Given the description of an element on the screen output the (x, y) to click on. 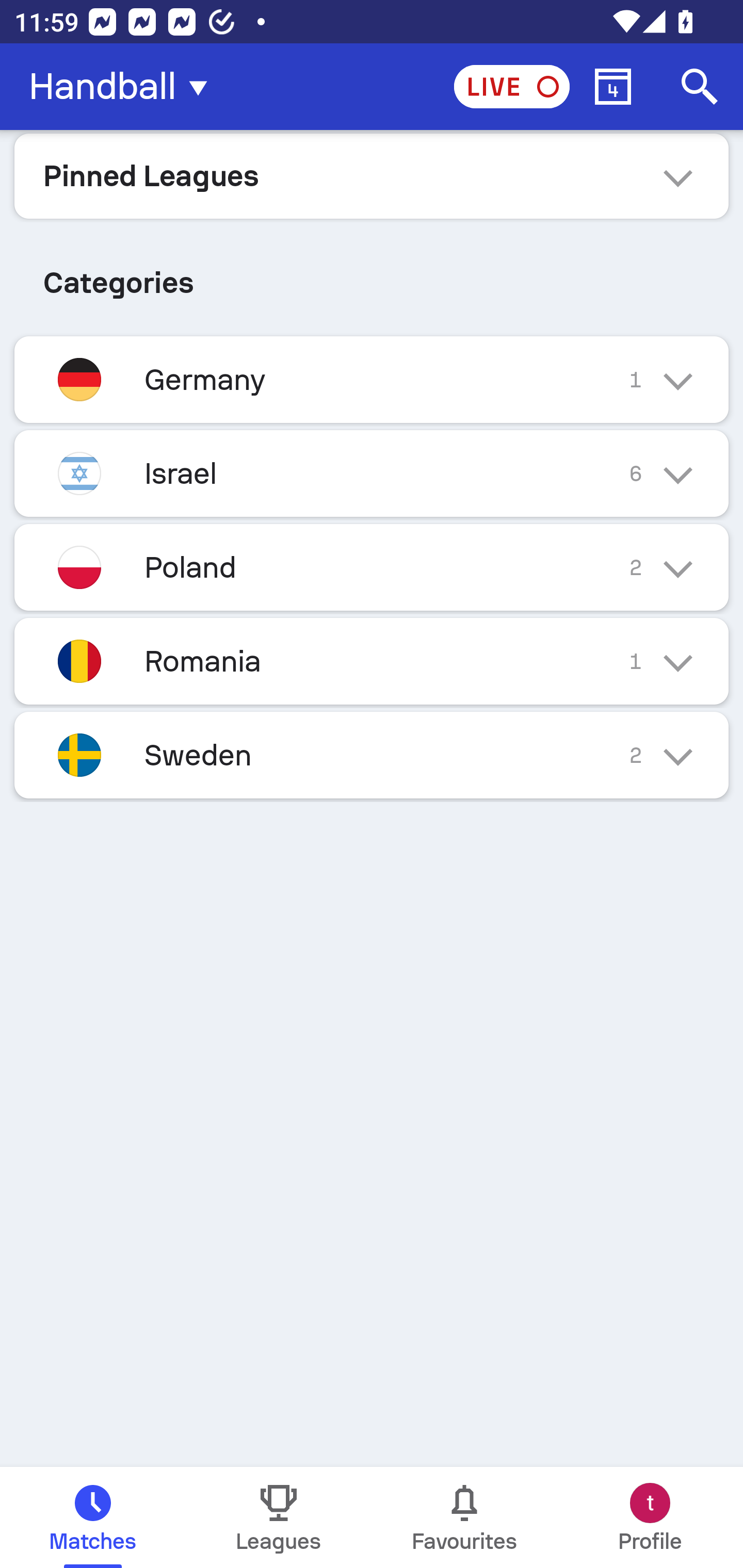
Handball (124, 86)
Calendar (612, 86)
Search (699, 86)
Pinned Leagues (371, 175)
Categories (371, 275)
Germany 1 (371, 379)
Israel 6 (371, 473)
Poland 2 (371, 566)
Romania 1 (371, 660)
Sweden 2 (371, 754)
Leagues (278, 1517)
Favourites (464, 1517)
Profile (650, 1517)
